Given the description of an element on the screen output the (x, y) to click on. 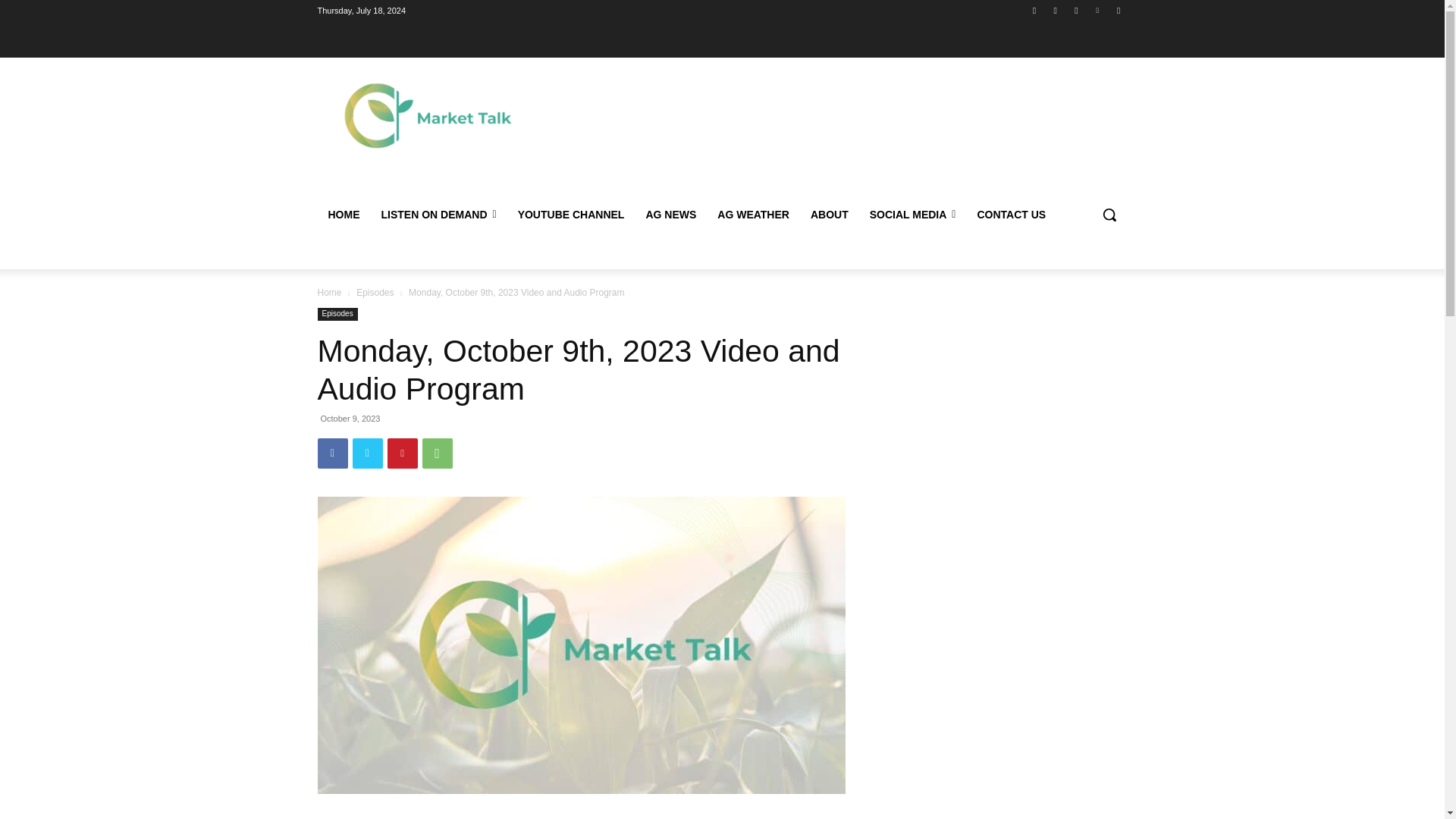
View all posts in Episodes (374, 291)
LISTEN ON DEMAND (437, 213)
Vimeo (1097, 9)
Pinterest (401, 453)
Instagram (1055, 9)
Youtube (1117, 9)
Twitter (1075, 9)
HOME (343, 213)
Facebook (332, 453)
Twitter (366, 453)
AG NEWS (670, 213)
YOUTUBE CHANNEL (570, 213)
Facebook (1034, 9)
